Given the description of an element on the screen output the (x, y) to click on. 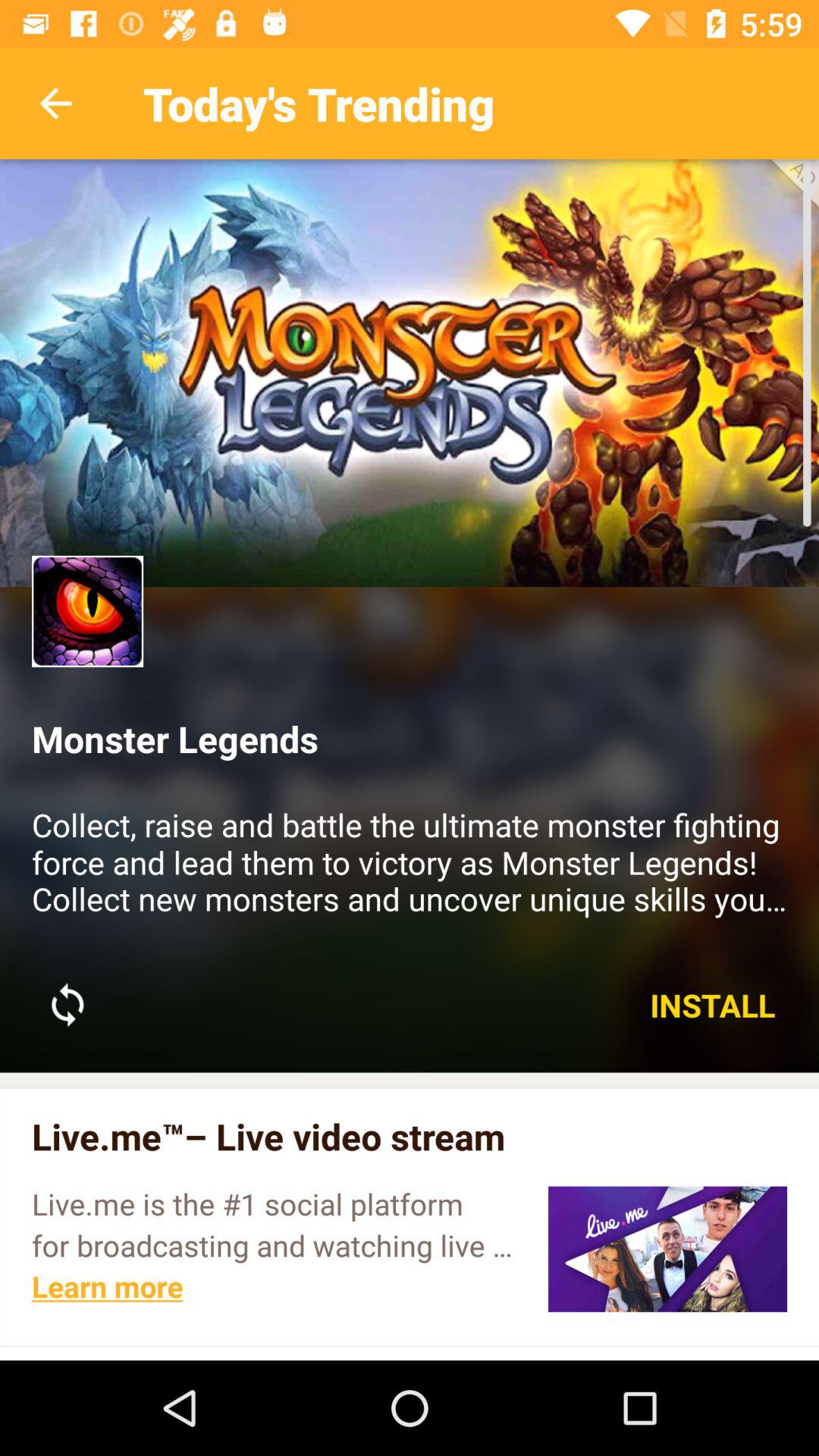
go back (55, 103)
